Given the description of an element on the screen output the (x, y) to click on. 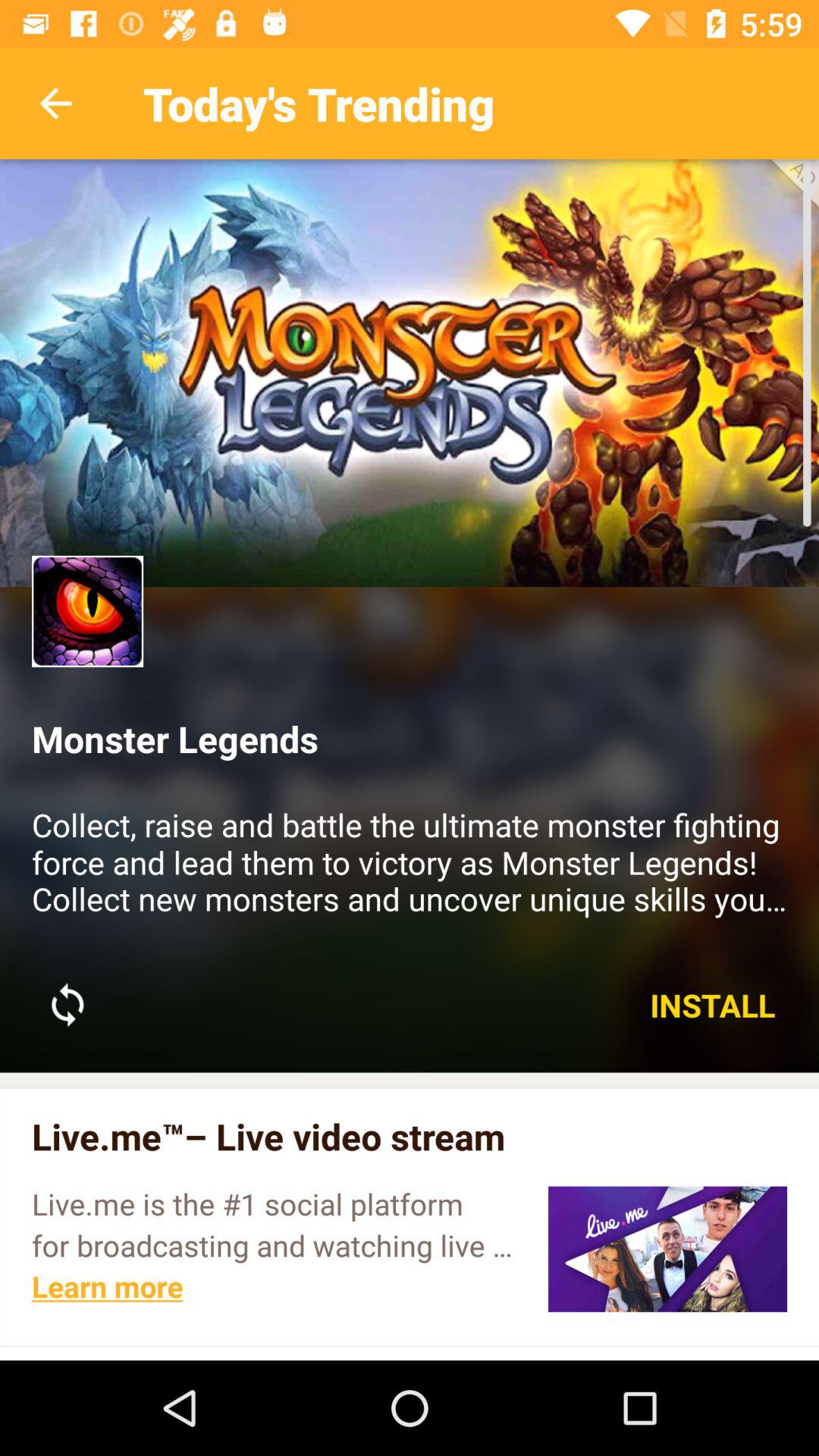
go back (55, 103)
